Given the description of an element on the screen output the (x, y) to click on. 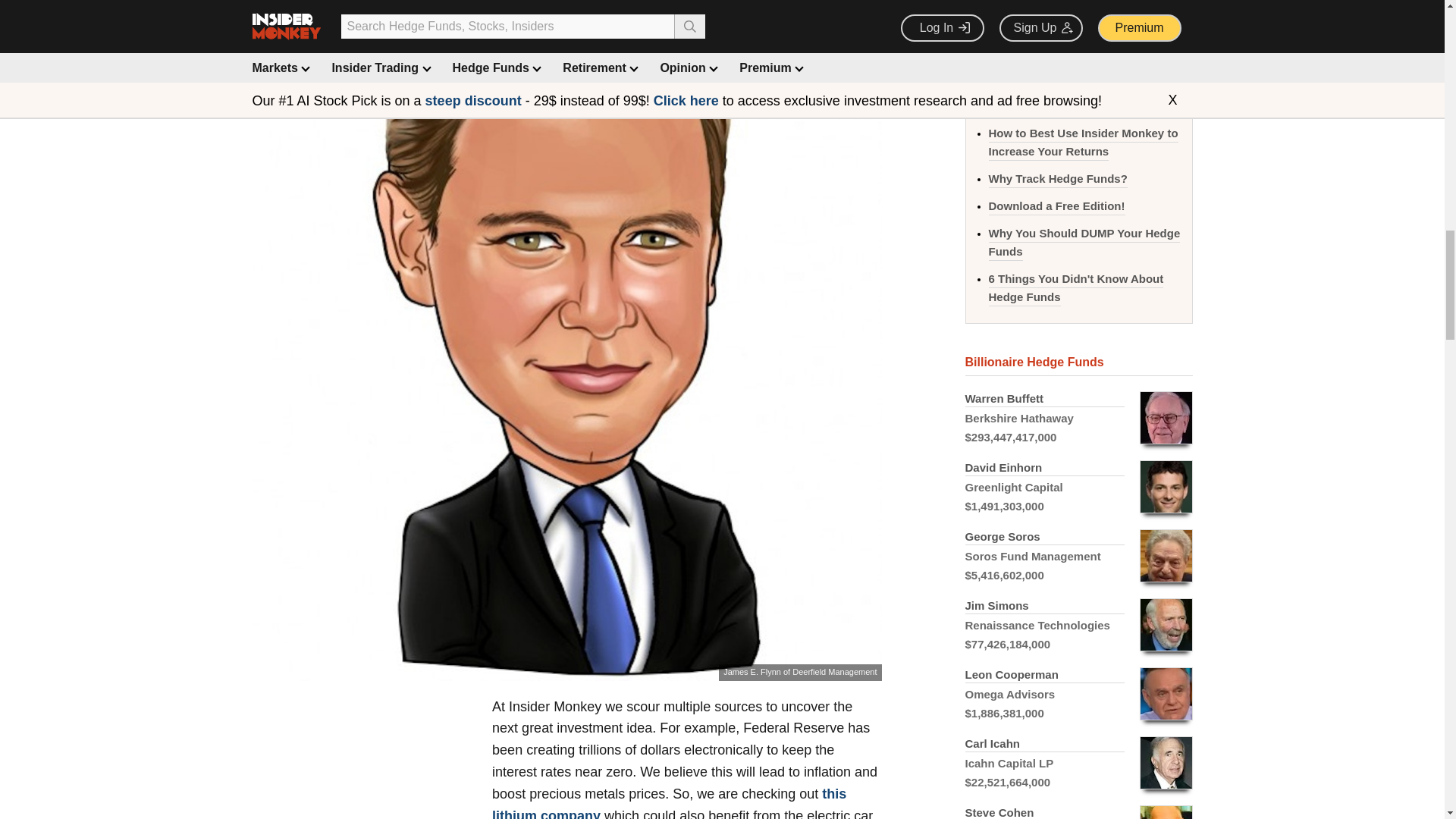
Click to see details for Renaissance Technologies (1077, 625)
Click to see details for Icahn Capital LP (1077, 762)
Click to see details for Berkshire Hathaway (1077, 418)
Click to see details for Omega Advisors (1077, 694)
Click to see details for Soros Fund Management (1077, 555)
Click to see details for Greenlight Capital (1077, 486)
Click to see details for Point72 Asset Management (1077, 808)
